Given the description of an element on the screen output the (x, y) to click on. 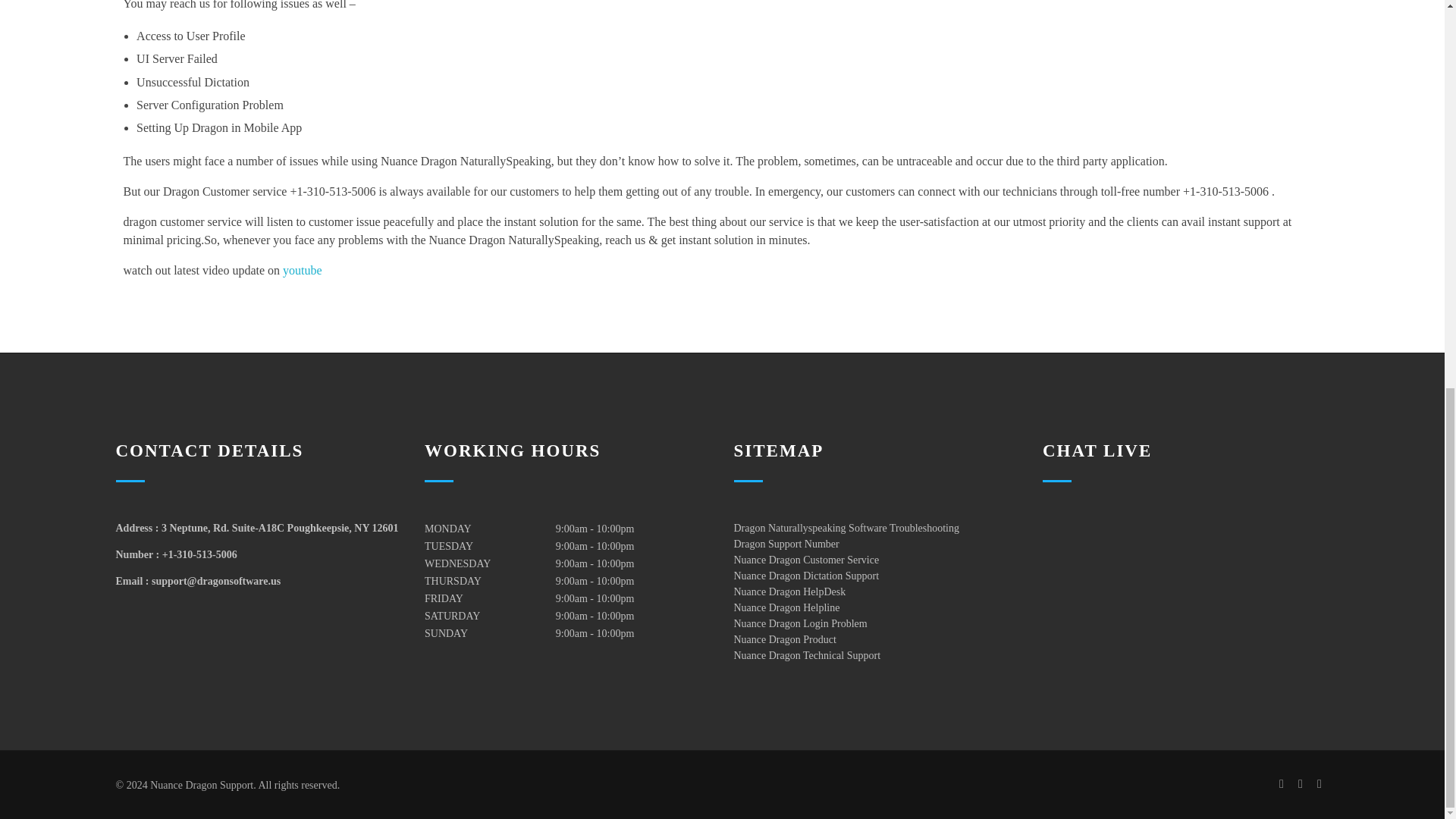
Dragon Support Number (786, 543)
Nuance Dragon Product (784, 639)
Nuance Dragon Login Problem (800, 623)
youtube (301, 269)
Dragon Naturallyspeaking Software Troubleshooting (846, 527)
Nuance Dragon Customer Service (806, 559)
Nuance Dragon HelpDesk (789, 591)
Nuance Dragon Technical Support (806, 655)
Nuance Dragon Dictation Support (806, 575)
Nuance Dragon Helpline (786, 607)
